Given the description of an element on the screen output the (x, y) to click on. 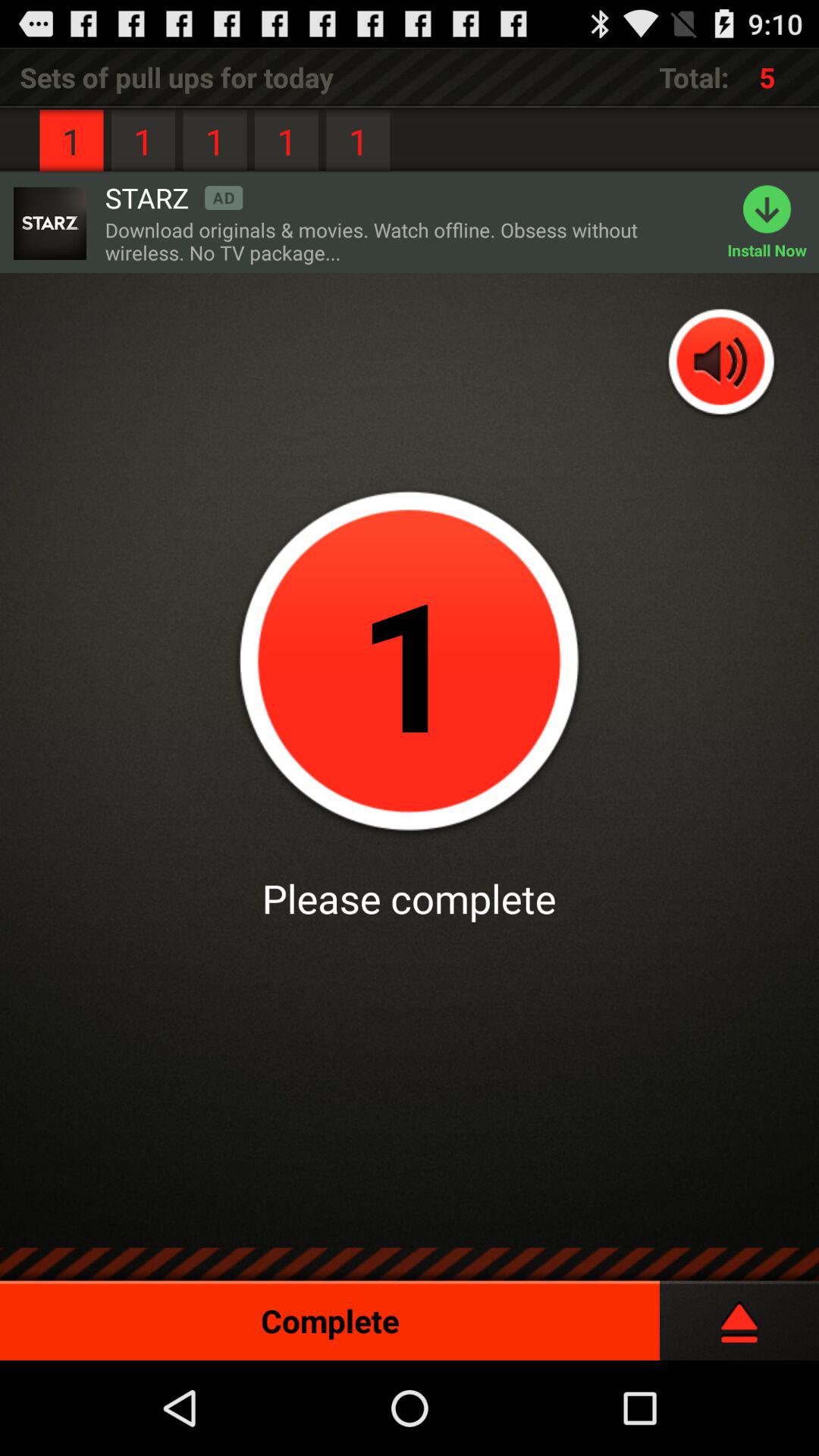
turn on the item at the bottom right corner (739, 1314)
